Given the description of an element on the screen output the (x, y) to click on. 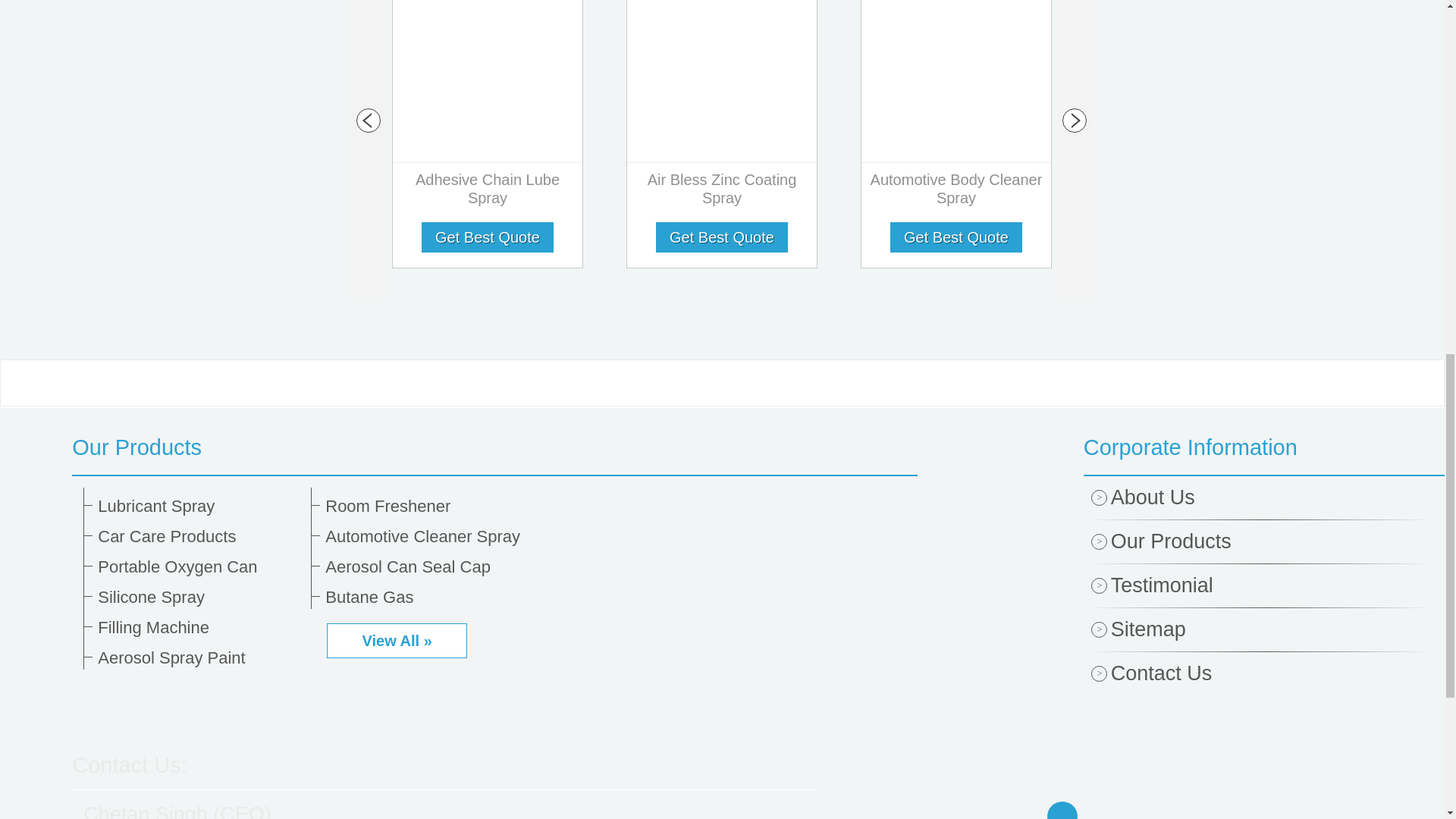
Our Products (494, 447)
Room Freshener (426, 506)
Automotive Body Cleaner Spray (956, 191)
Air Bless Zinc Coating Spray (721, 191)
Butane Gas (426, 597)
Contact Us: (129, 764)
Automotive Cleaner Spray (426, 536)
Aerosol Spray Paint (198, 658)
Portable Oxygen Can (198, 566)
Aerosol Can Seal Cap (426, 566)
